Given the description of an element on the screen output the (x, y) to click on. 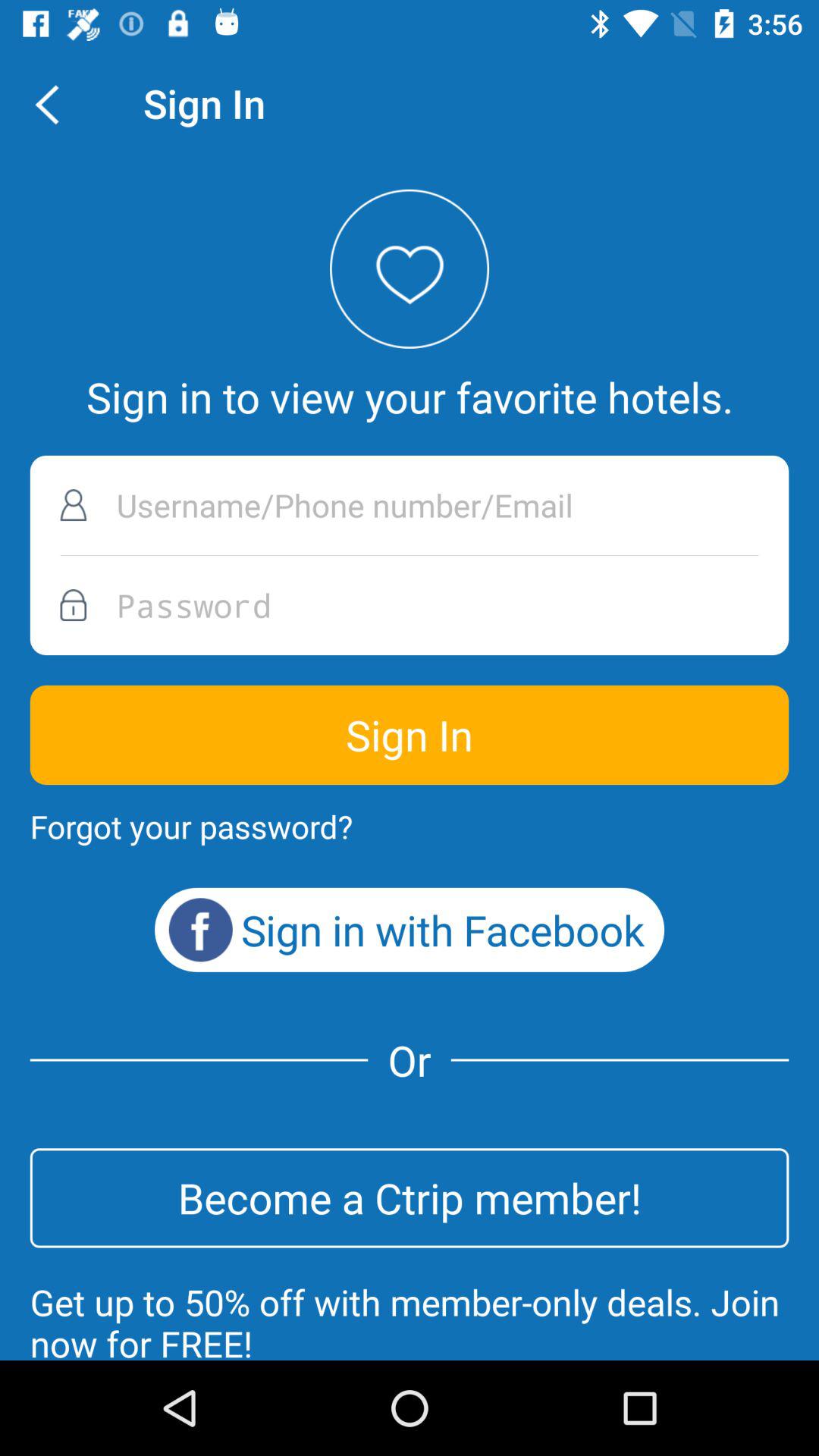
enter password (409, 605)
